Given the description of an element on the screen output the (x, y) to click on. 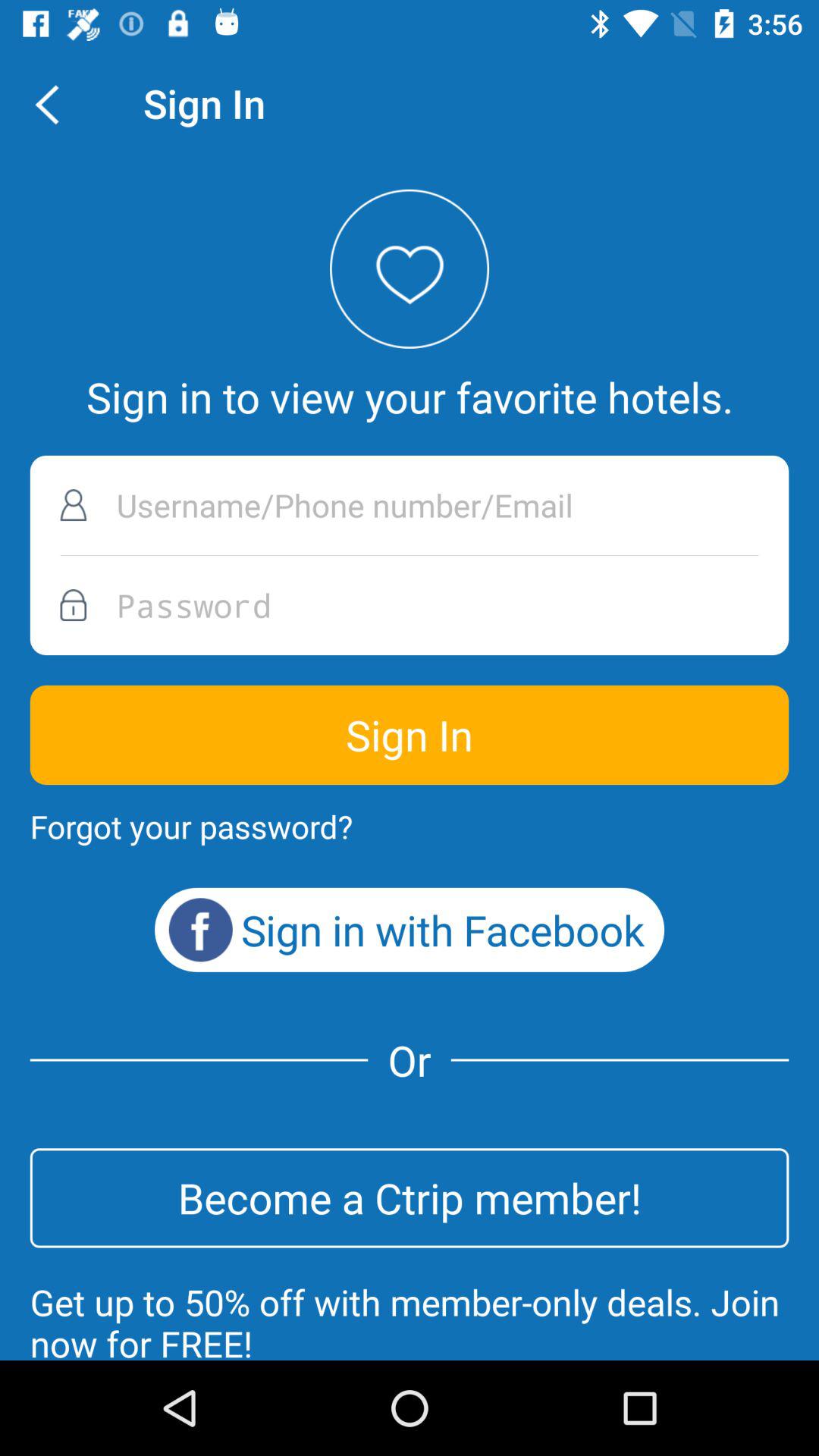
enter password (409, 605)
